Given the description of an element on the screen output the (x, y) to click on. 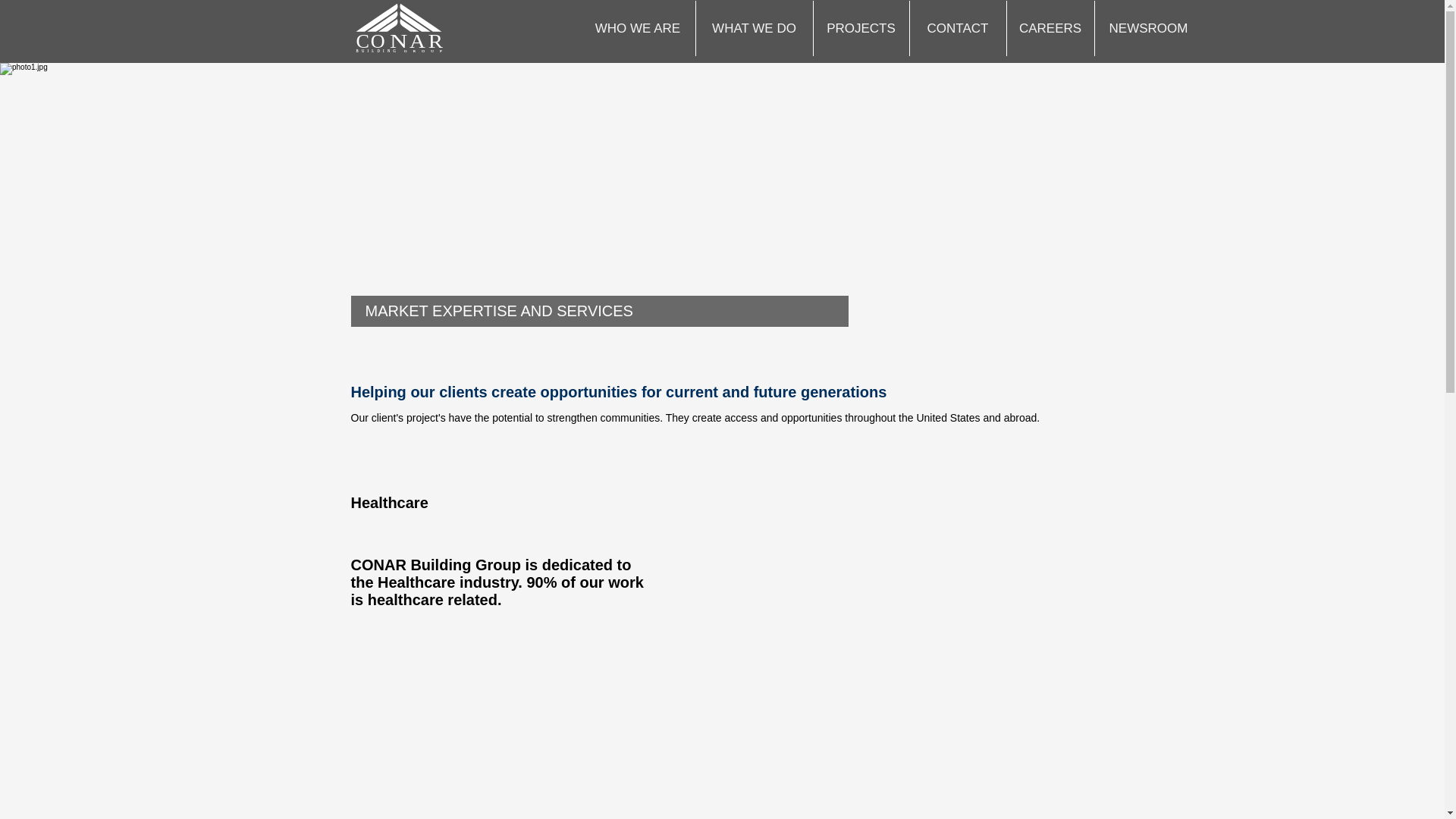
WHAT WE DO (753, 28)
WHO WE ARE (400, 31)
NEWSROOM (637, 28)
PROJECTS (1147, 28)
CONTACT (400, 31)
CAREERS (860, 28)
